Given the description of an element on the screen output the (x, y) to click on. 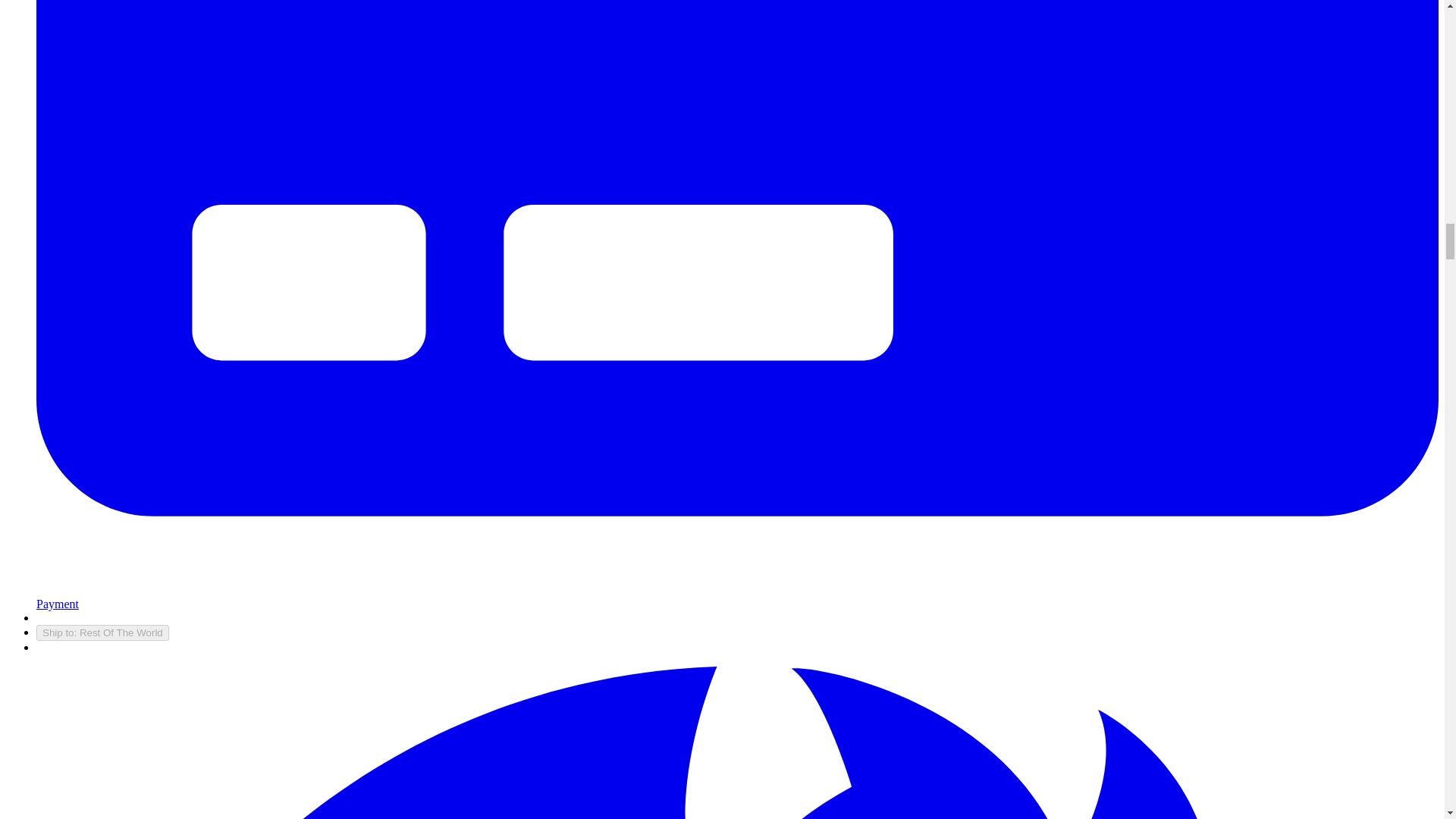
Ship to: Rest Of The World (102, 632)
